Given the description of an element on the screen output the (x, y) to click on. 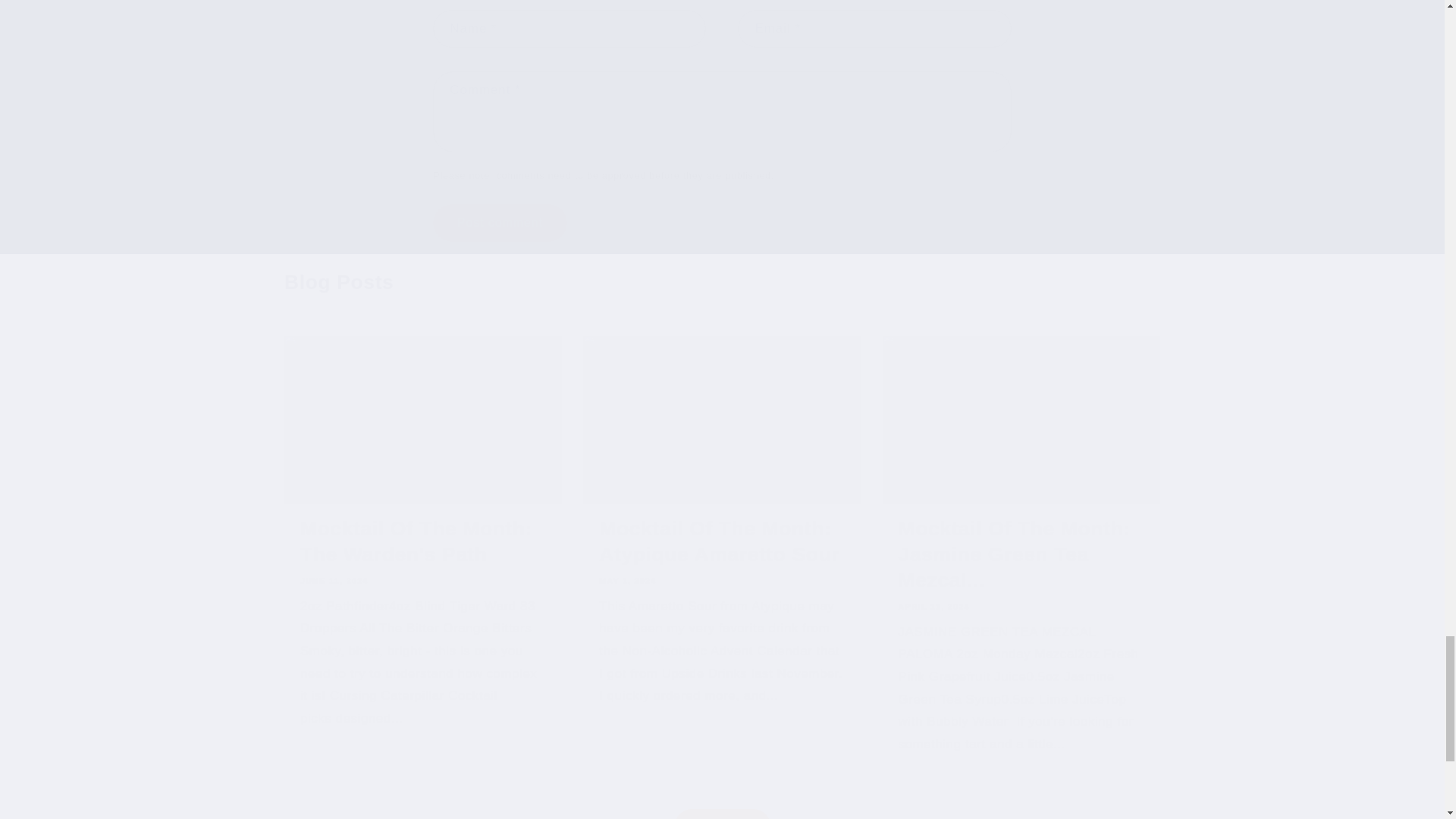
Post comment (499, 221)
View all (721, 794)
Blog Posts (338, 282)
